Given the description of an element on the screen output the (x, y) to click on. 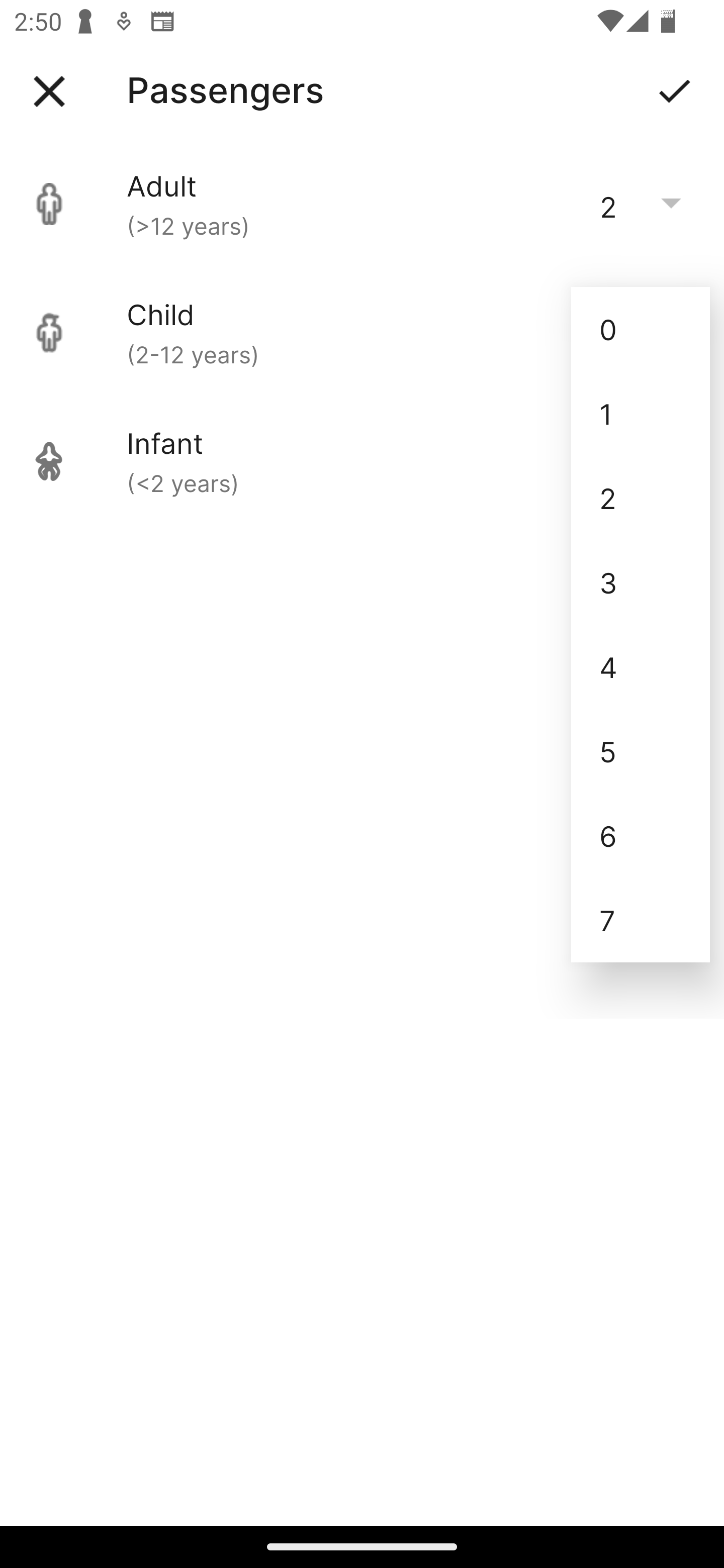
0 (640, 328)
1 (640, 413)
2 (640, 498)
3 (640, 582)
4 (640, 666)
5 (640, 750)
6 (640, 835)
7 (640, 920)
